Given the description of an element on the screen output the (x, y) to click on. 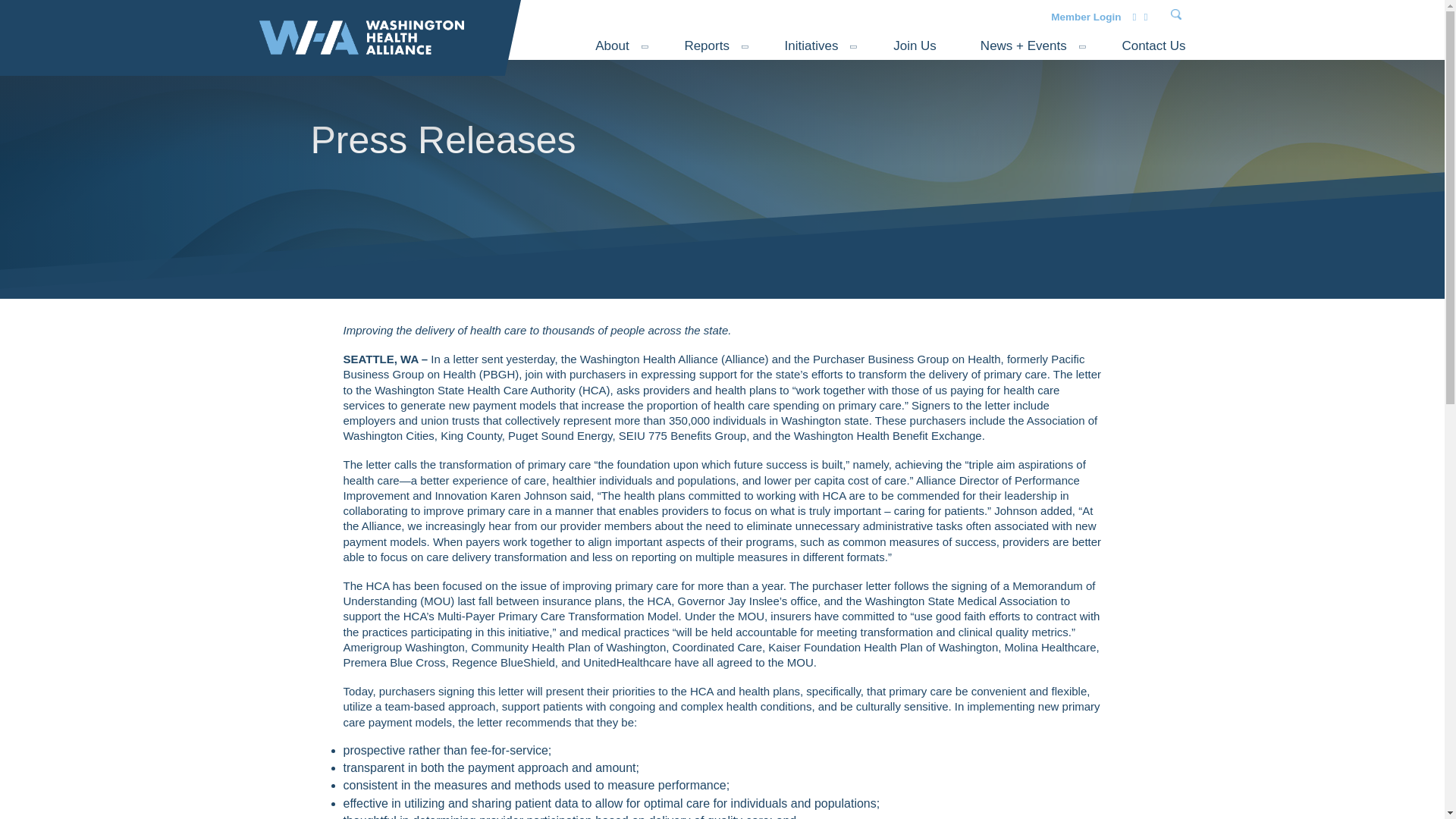
Contact Us (1153, 45)
search (1350, 15)
Reports (706, 45)
Initiatives (811, 45)
Skip to content (21, 13)
About (611, 45)
Join Us (914, 45)
Member Login (1085, 14)
